Given the description of an element on the screen output the (x, y) to click on. 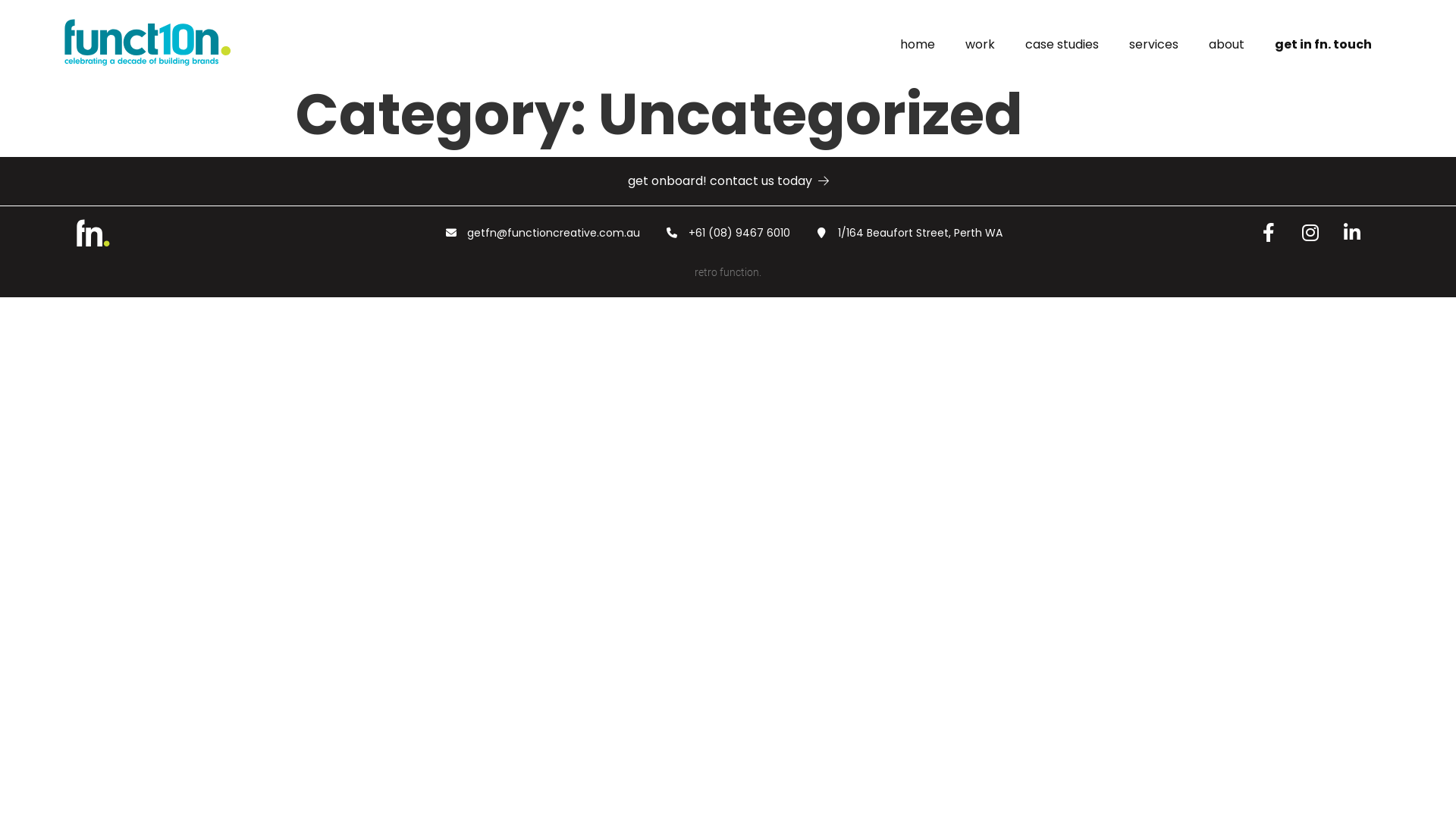
work Element type: text (980, 44)
case studies Element type: text (1061, 44)
about Element type: text (1226, 44)
+61 (08) 9467 6010 Element type: text (727, 232)
home Element type: text (917, 44)
get in fn. touch Element type: text (1322, 44)
getfn@functioncreative.com.au Element type: text (542, 232)
services Element type: text (1153, 44)
retro function. Element type: text (727, 272)
1/164 Beaufort Street, Perth WA Element type: text (909, 232)
